Given the description of an element on the screen output the (x, y) to click on. 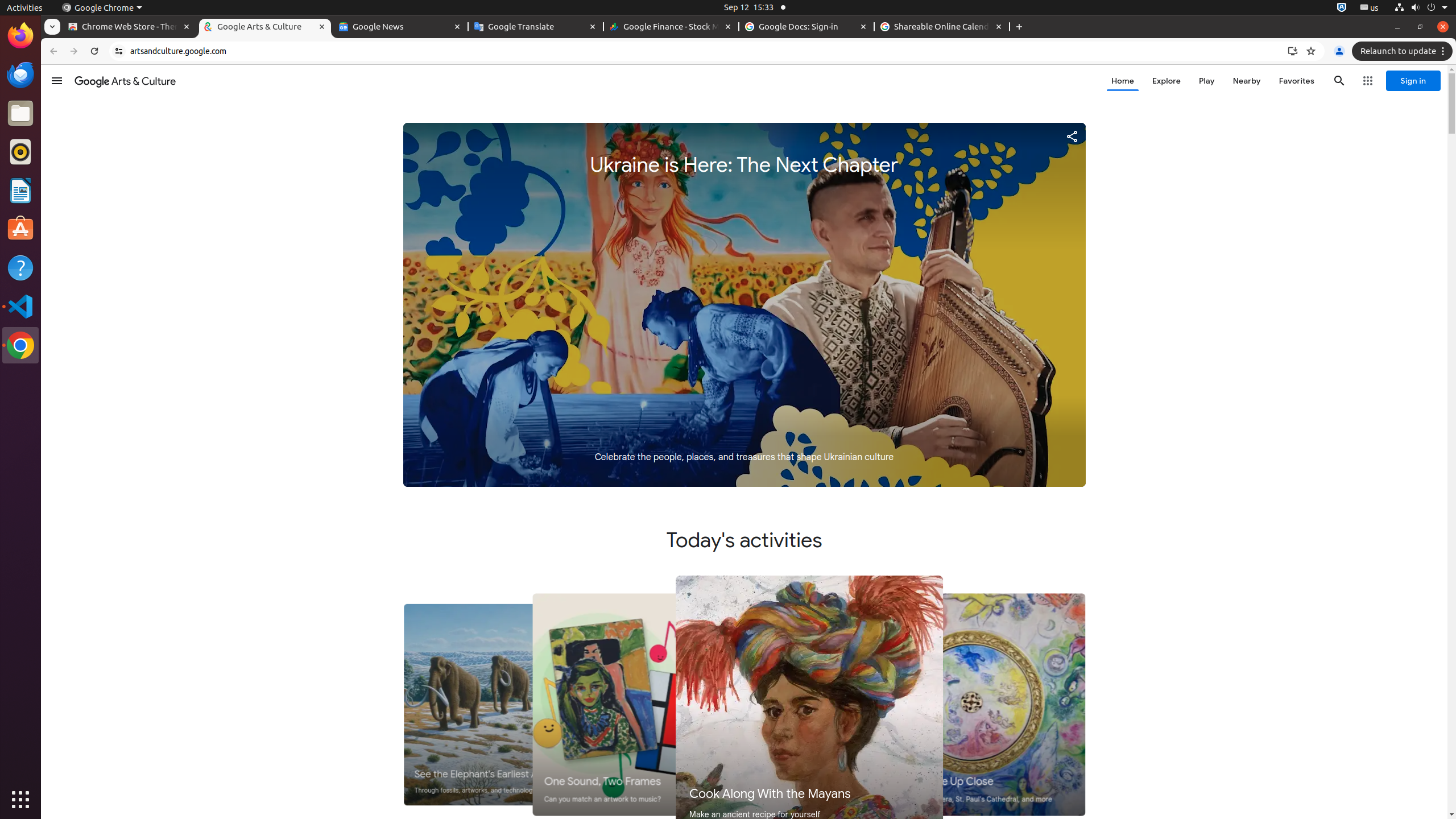
View site information Element type: push-button (118, 51)
Google Arts & Culture Element type: page-tab (264, 26)
Favorites Element type: link (1296, 80)
LibreOffice Writer Element type: push-button (20, 190)
One Sound, Two Frames Can you match an artwork to music? Element type: link (647, 704)
